Given the description of an element on the screen output the (x, y) to click on. 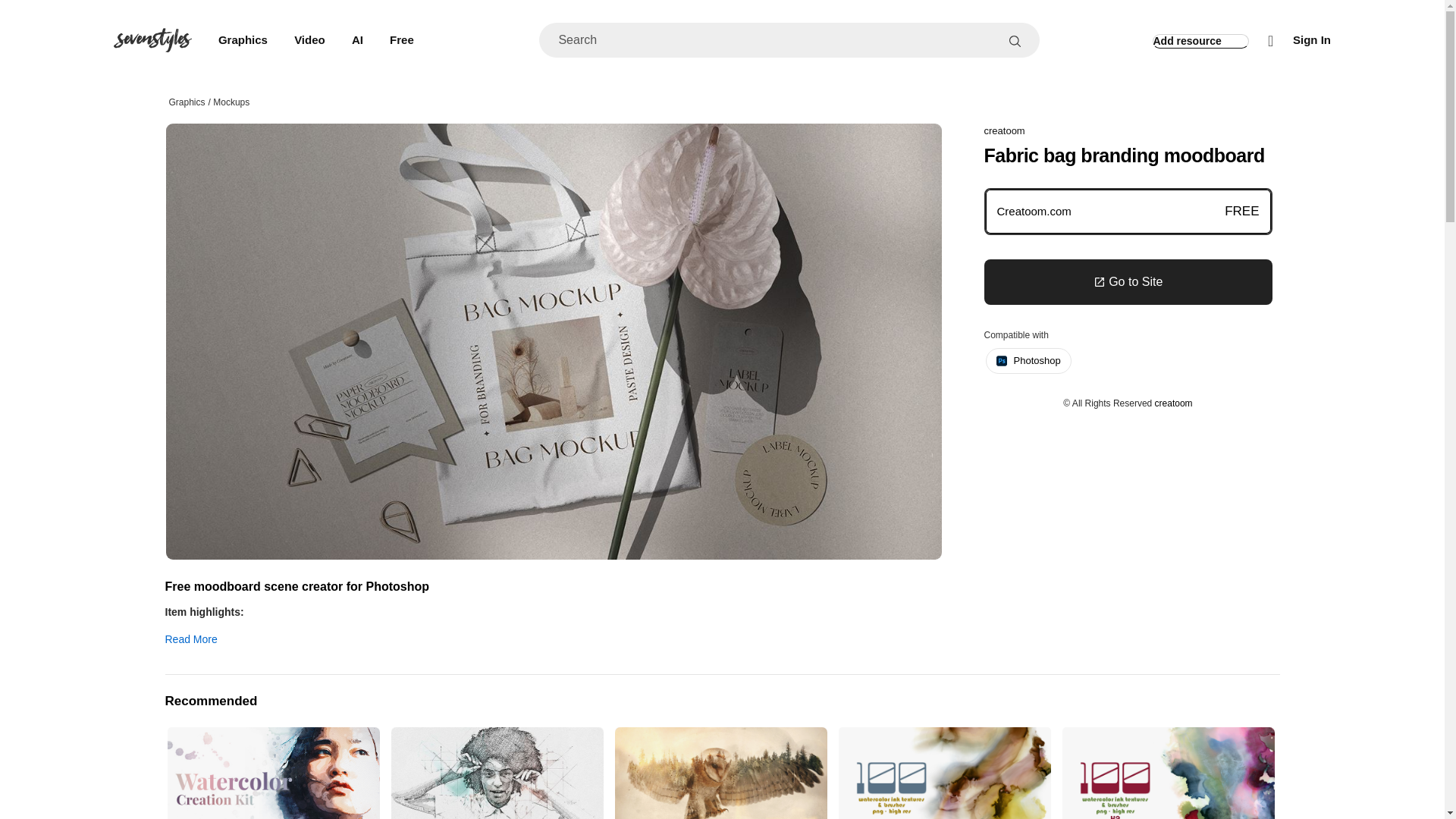
Add resource (1201, 41)
Graphics (241, 40)
Sign In (1306, 40)
Video (310, 40)
Photoshop (1028, 360)
Read More (557, 635)
Video (310, 40)
Go to Site (1128, 281)
Graphics (186, 101)
Mockups (230, 101)
creatoom (1173, 403)
Free (401, 40)
creatoom (1004, 130)
Graphics (241, 40)
Free (401, 40)
